Given the description of an element on the screen output the (x, y) to click on. 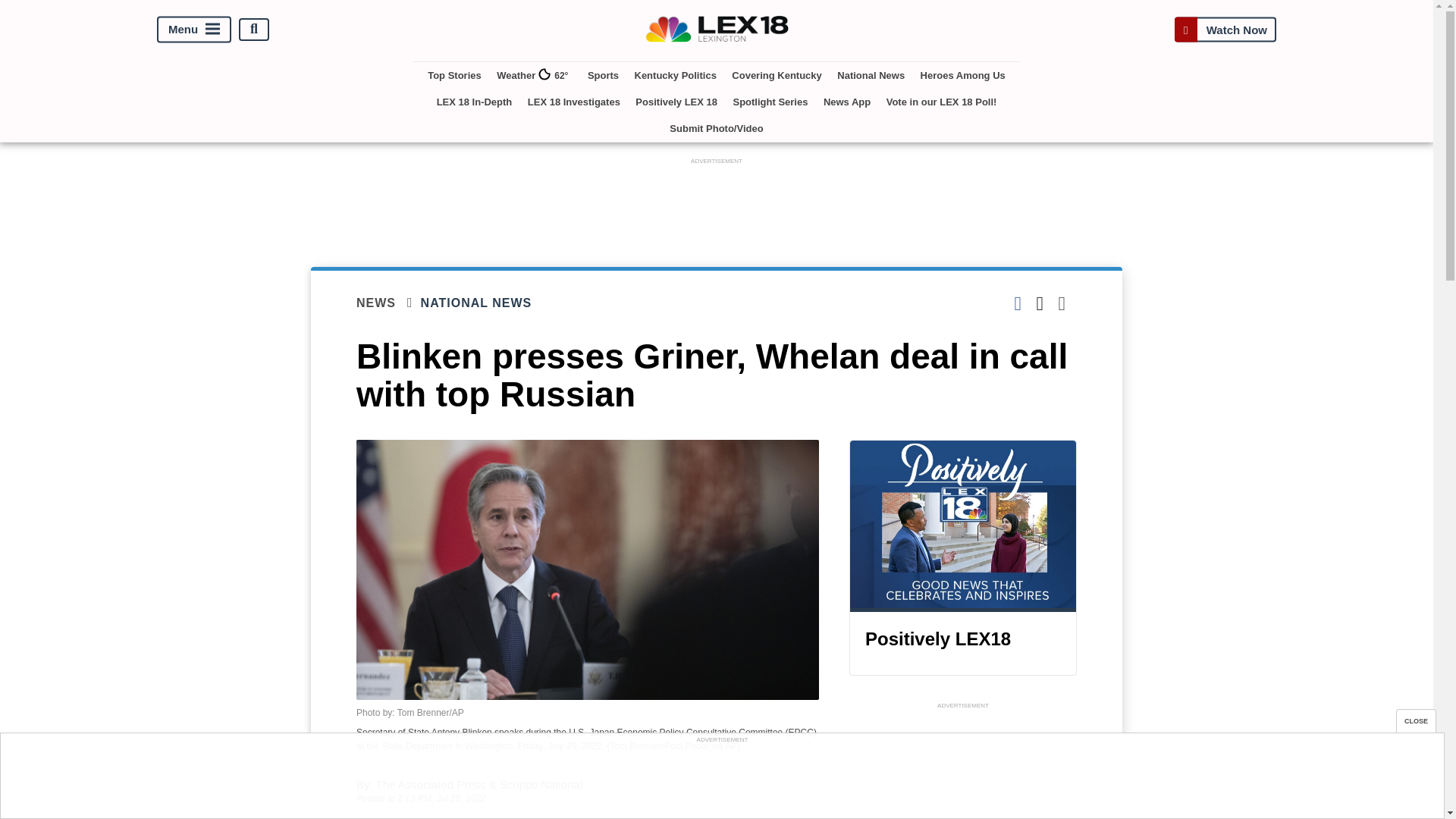
3rd party ad content (716, 202)
3rd party ad content (962, 765)
Menu (194, 28)
3rd party ad content (721, 780)
Watch Now (1224, 29)
